Given the description of an element on the screen output the (x, y) to click on. 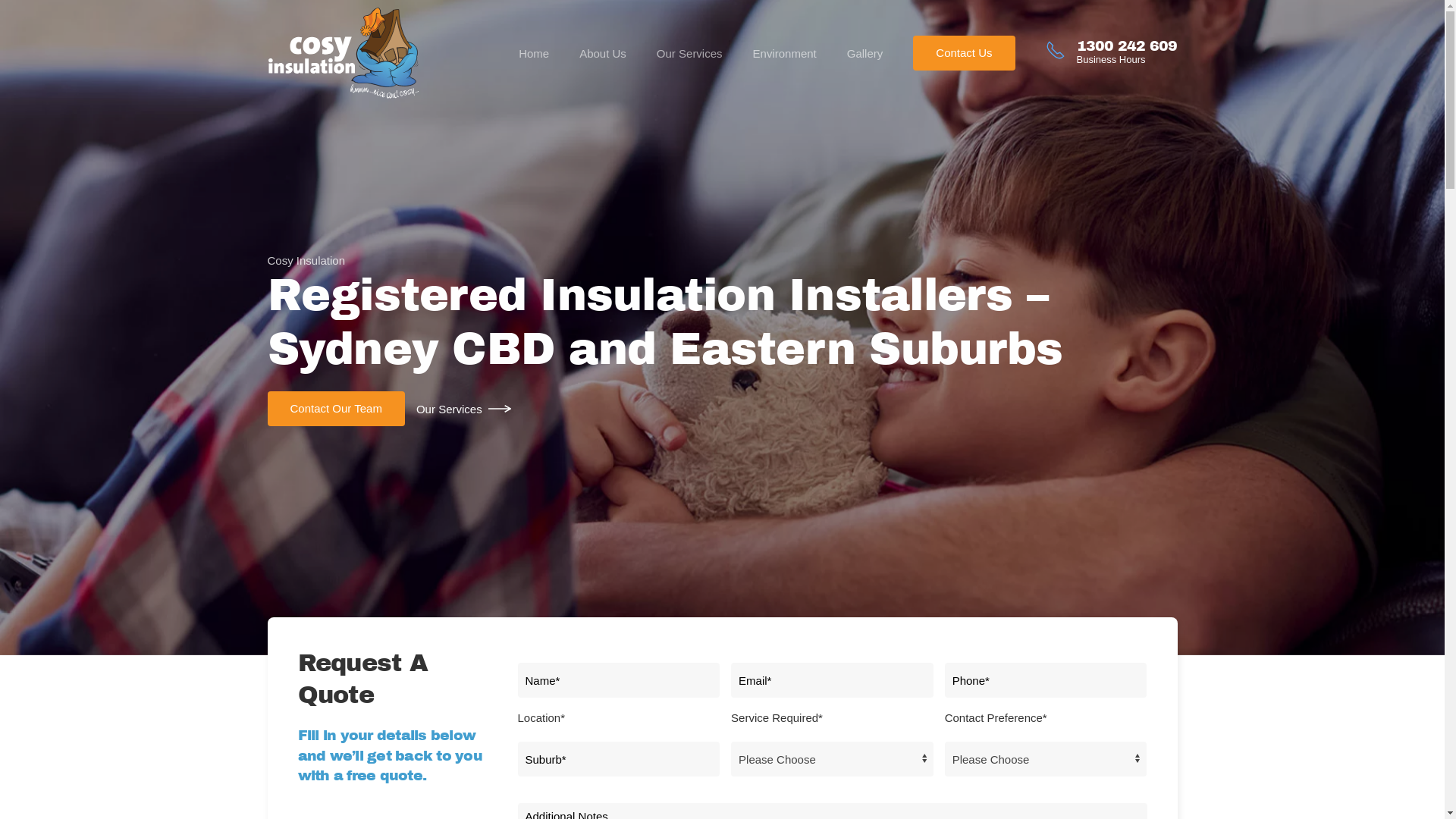
Environment Element type: text (784, 52)
Home Element type: text (533, 52)
About Us Element type: text (602, 52)
Contact Our Team Element type: text (335, 408)
Our Services Element type: text (465, 408)
Gallery Element type: text (865, 52)
Our Services Element type: text (689, 52)
Contact Us Element type: text (963, 52)
1300 242 609 Element type: text (1126, 45)
